Given the description of an element on the screen output the (x, y) to click on. 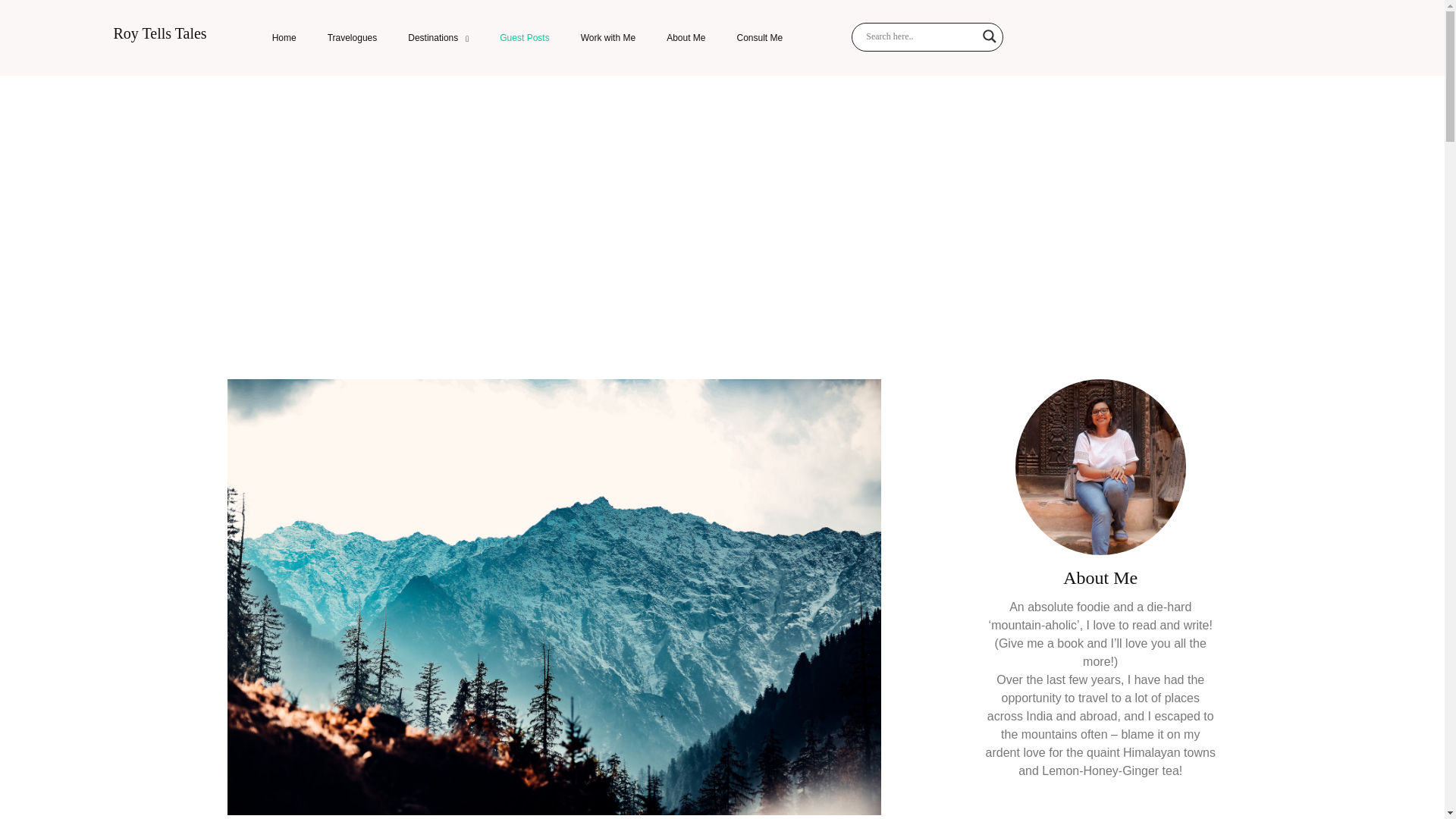
Roy Tells Tales (159, 36)
